Given the description of an element on the screen output the (x, y) to click on. 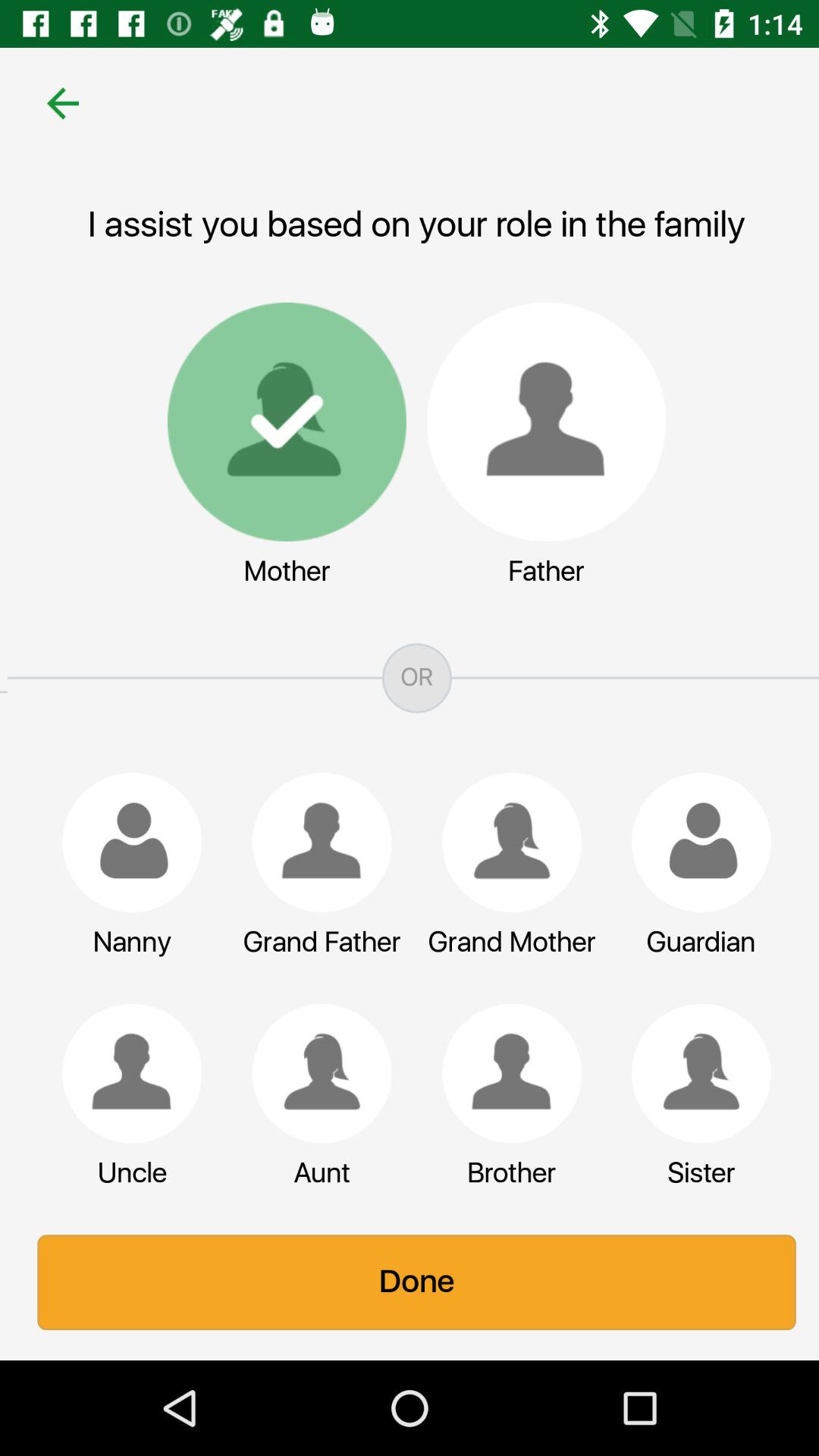
select sister (693, 1073)
